Given the description of an element on the screen output the (x, y) to click on. 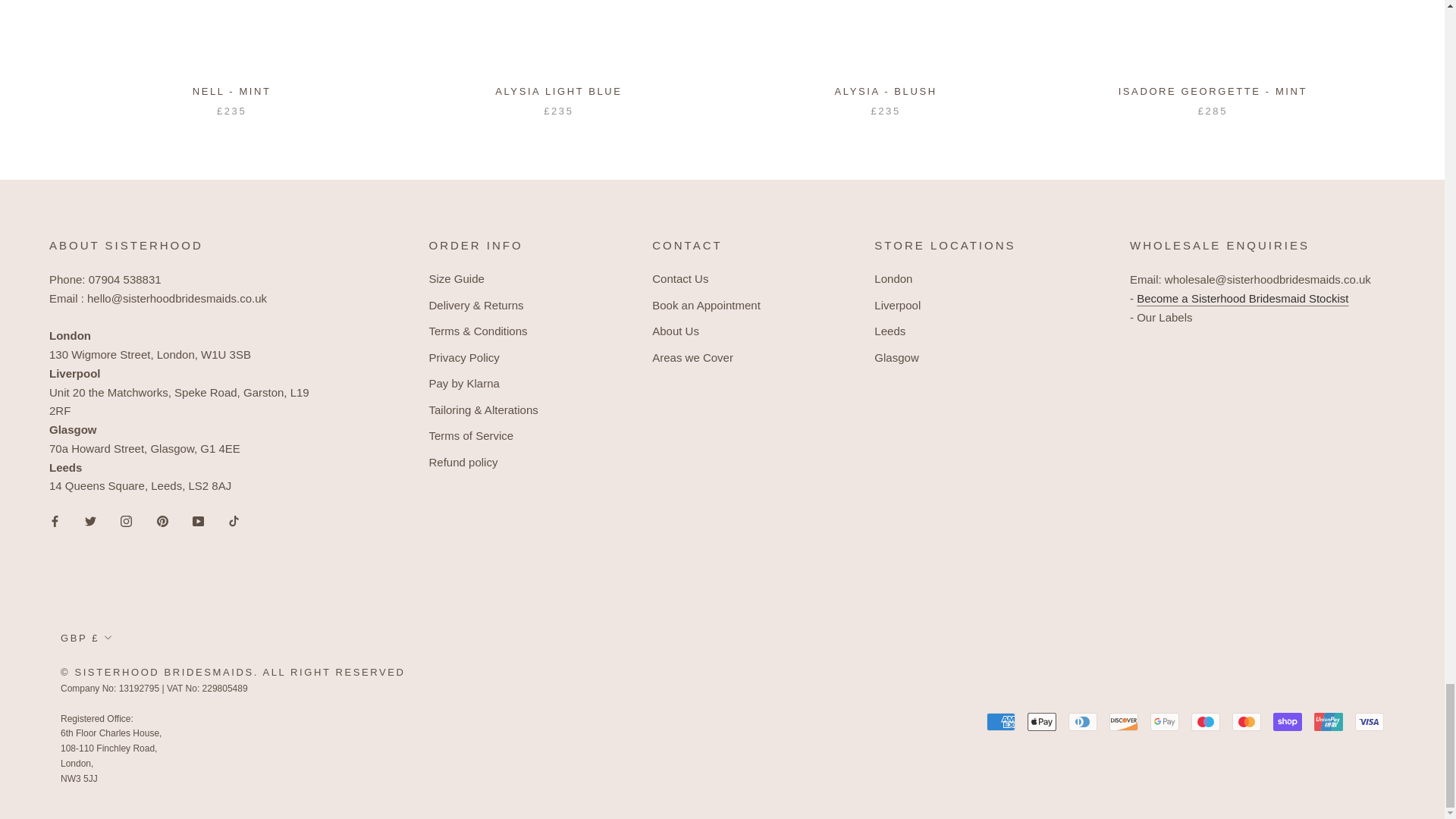
Wholesale (1242, 297)
